Given the description of an element on the screen output the (x, y) to click on. 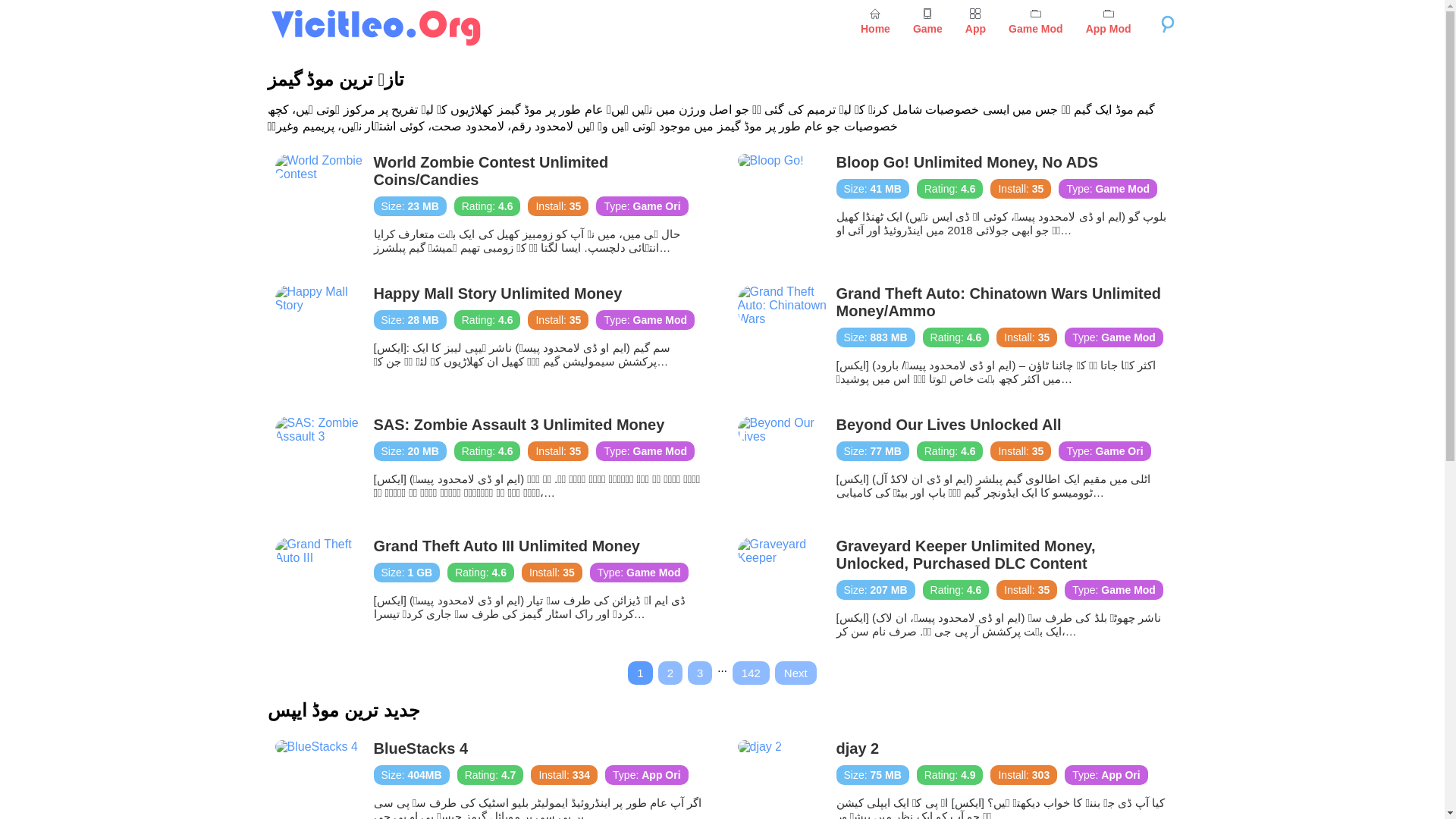
Home (874, 21)
Game (927, 21)
Download APK djay 2 (952, 775)
Download APK BlueStacks 4 (490, 775)
App (975, 21)
